Given the description of an element on the screen output the (x, y) to click on. 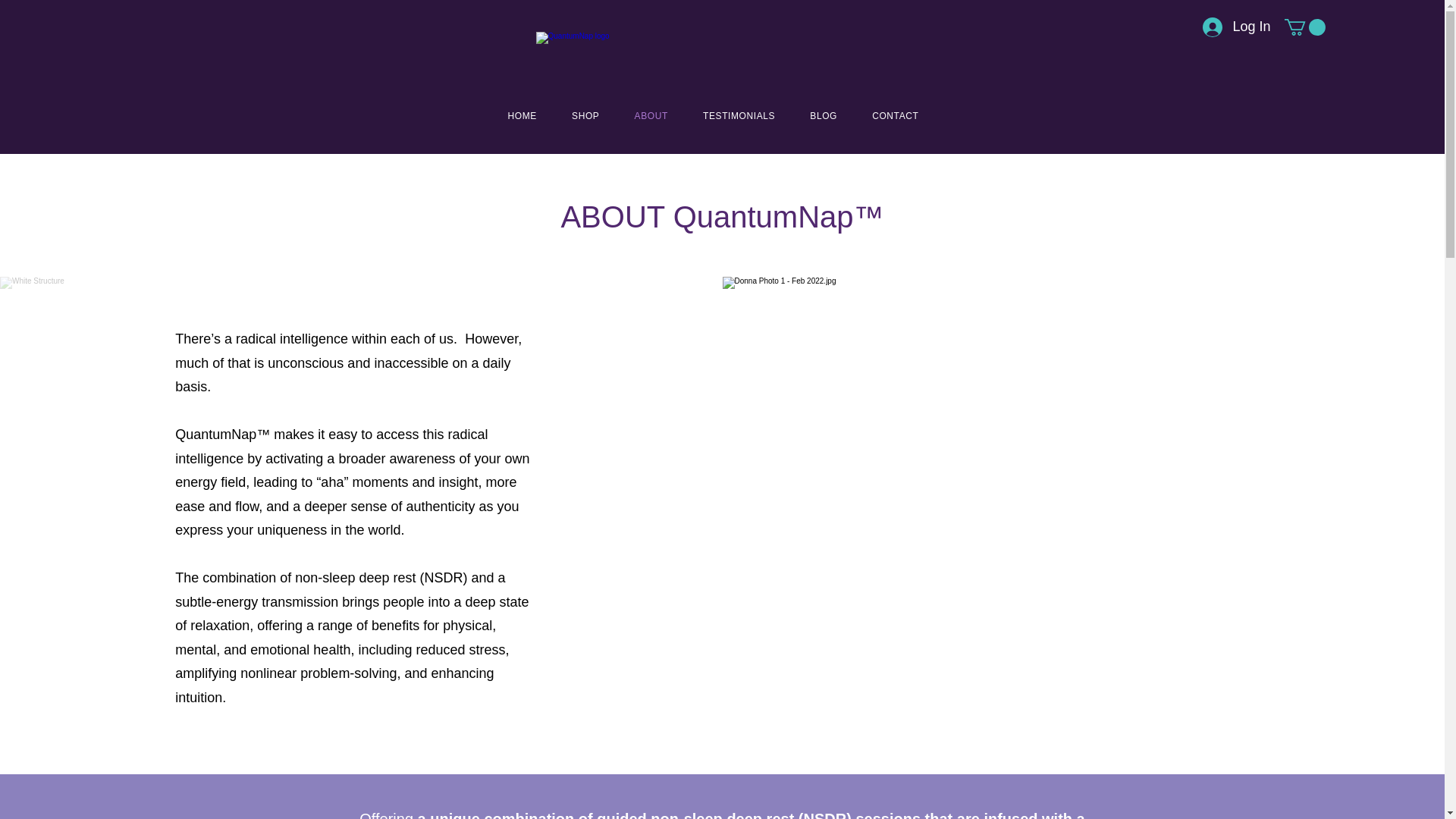
CONTACT (895, 115)
BLOG (822, 115)
Log In (1227, 27)
TESTIMONIALS (738, 115)
HOME (522, 115)
ABOUT (651, 115)
